Given the description of an element on the screen output the (x, y) to click on. 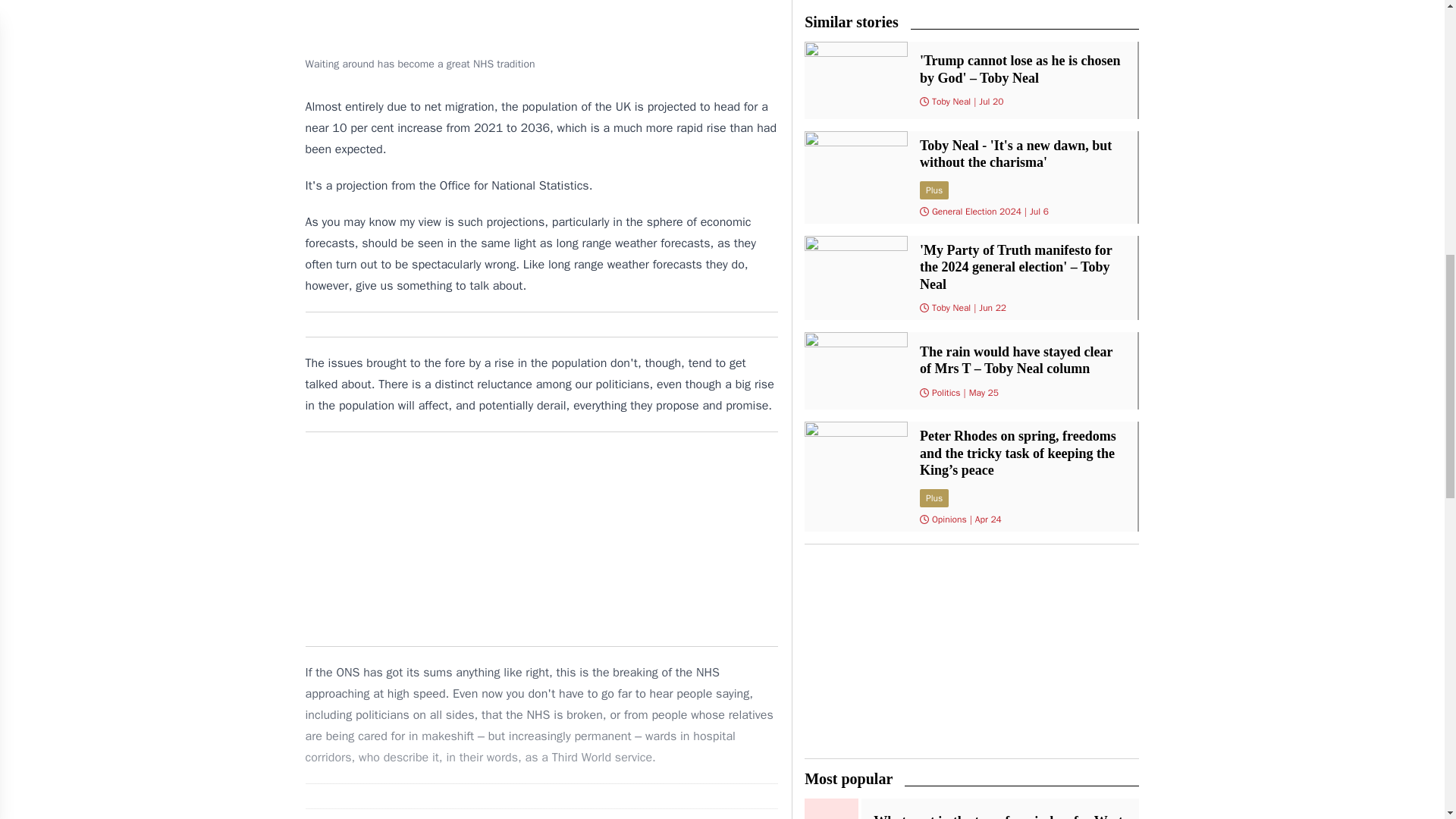
Toby Neal (951, 101)
General Election 2024 (976, 211)
Toby Neal (951, 307)
Politics (945, 392)
Opinions (948, 519)
